Given the description of an element on the screen output the (x, y) to click on. 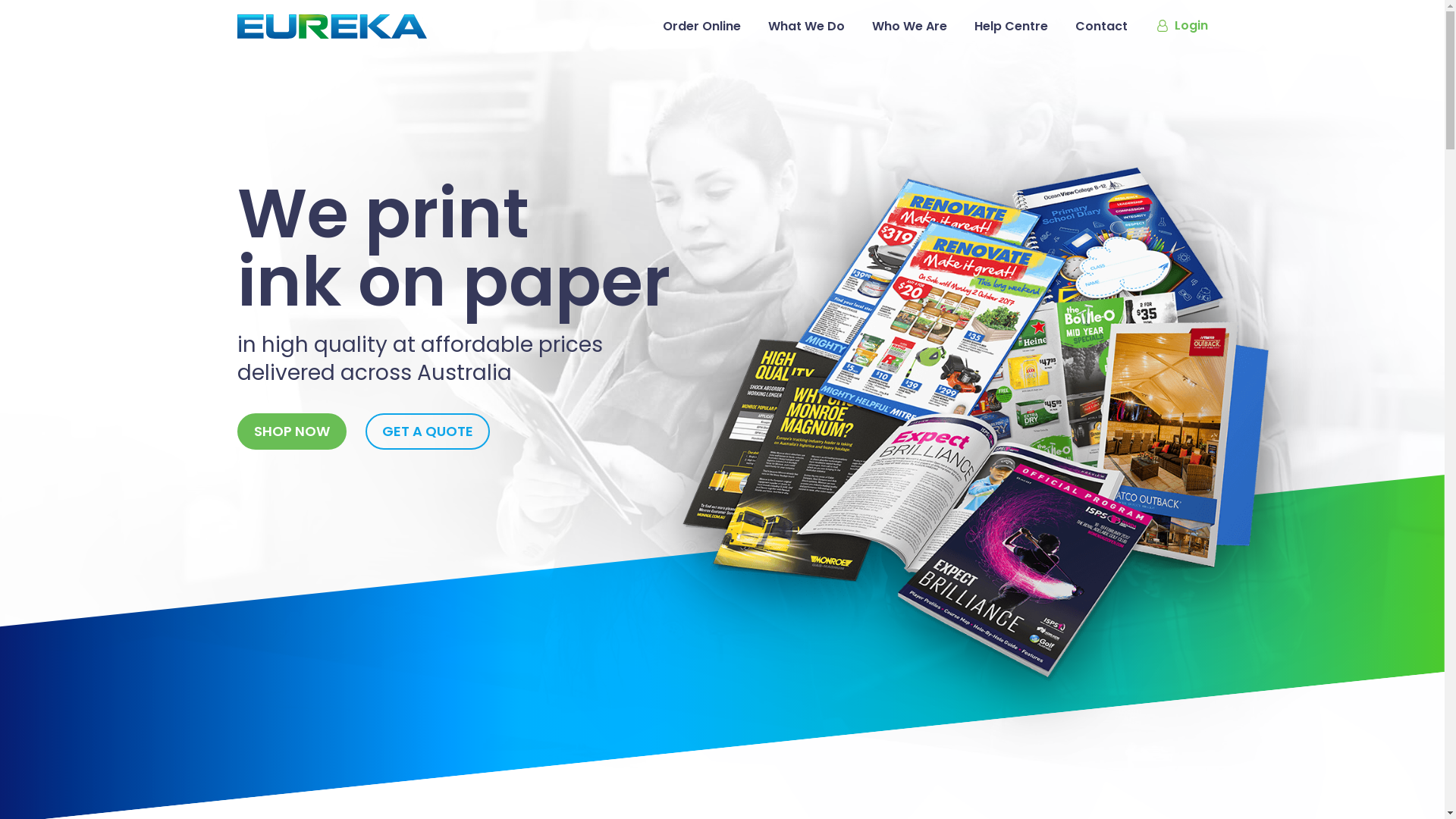
Order Online Element type: text (701, 26)
SHOP NOW Element type: text (290, 431)
What We Do Element type: text (805, 26)
GET A QUOTE Element type: text (427, 431)
Who We Are Element type: text (909, 26)
Contact Element type: text (1101, 26)
Help Centre Element type: text (1010, 26)
